Given the description of an element on the screen output the (x, y) to click on. 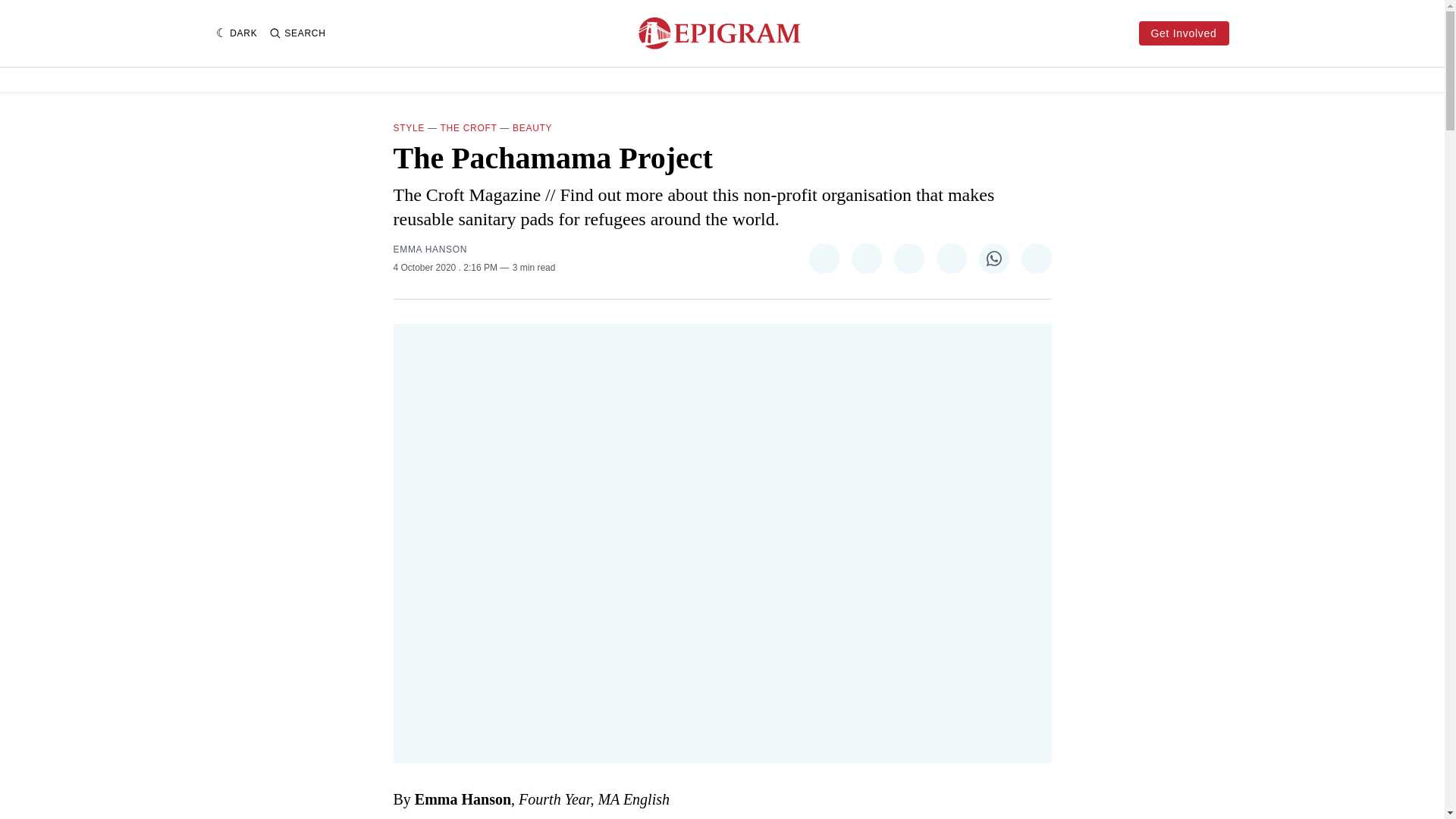
Share via Email (1035, 258)
Share on WhatsApp (993, 258)
SEARCH (296, 33)
DARK (236, 32)
THE CROFT (469, 127)
EMMA HANSON (430, 249)
Share on Pinterest (908, 258)
BEAUTY (531, 127)
Share on Twitter (823, 258)
Share on Facebook (865, 258)
